Given the description of an element on the screen output the (x, y) to click on. 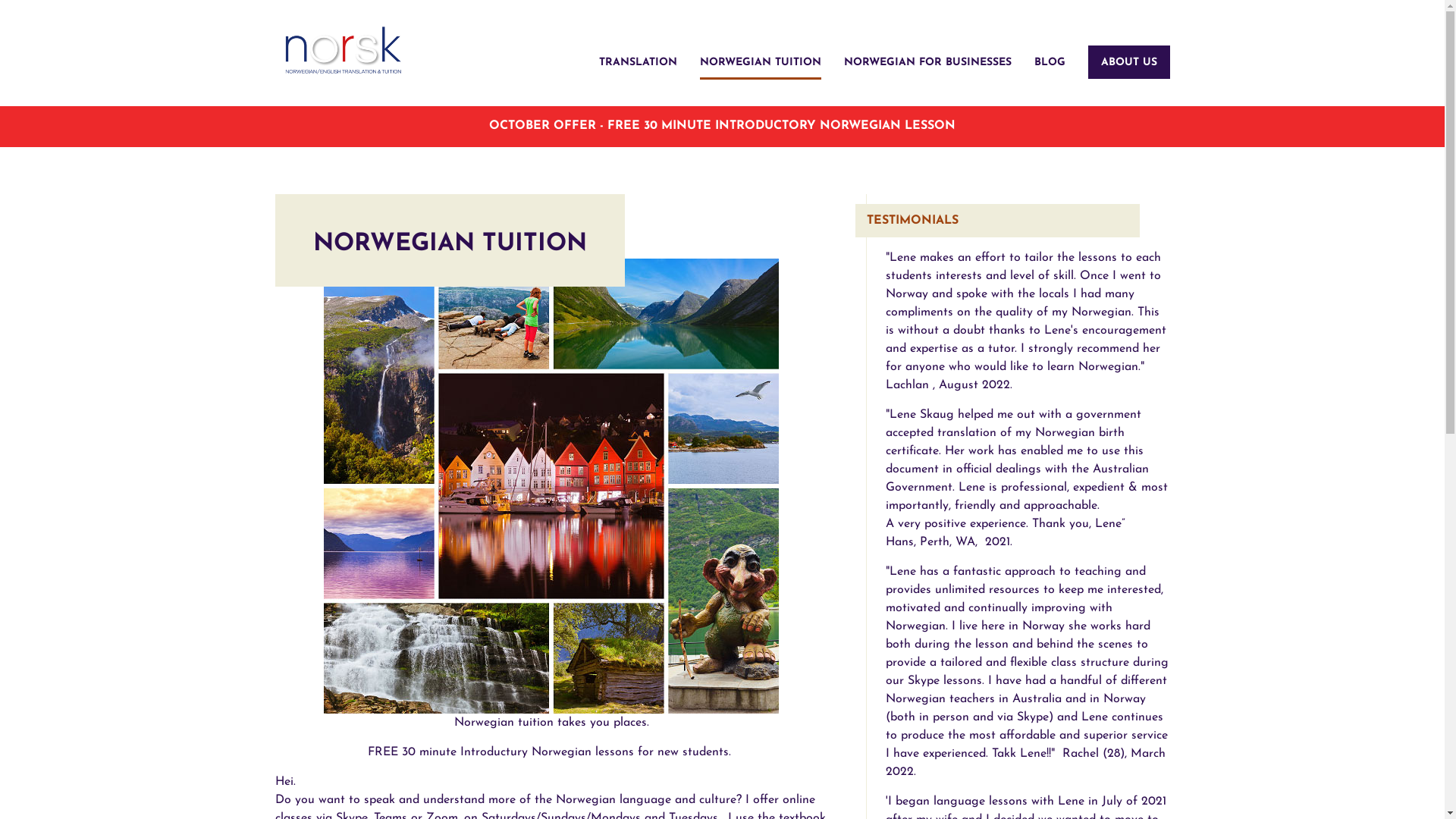
BLOG Element type: text (1049, 62)
ABOUT US Element type: text (1129, 62)
NORWEGIAN FOR BUSINESSES Element type: text (926, 62)
TRANSLATION Element type: text (638, 62)
Norwegian tuition takes you places. Element type: hover (550, 485)
NORWEGIAN TUITION Element type: text (759, 62)
